Given the description of an element on the screen output the (x, y) to click on. 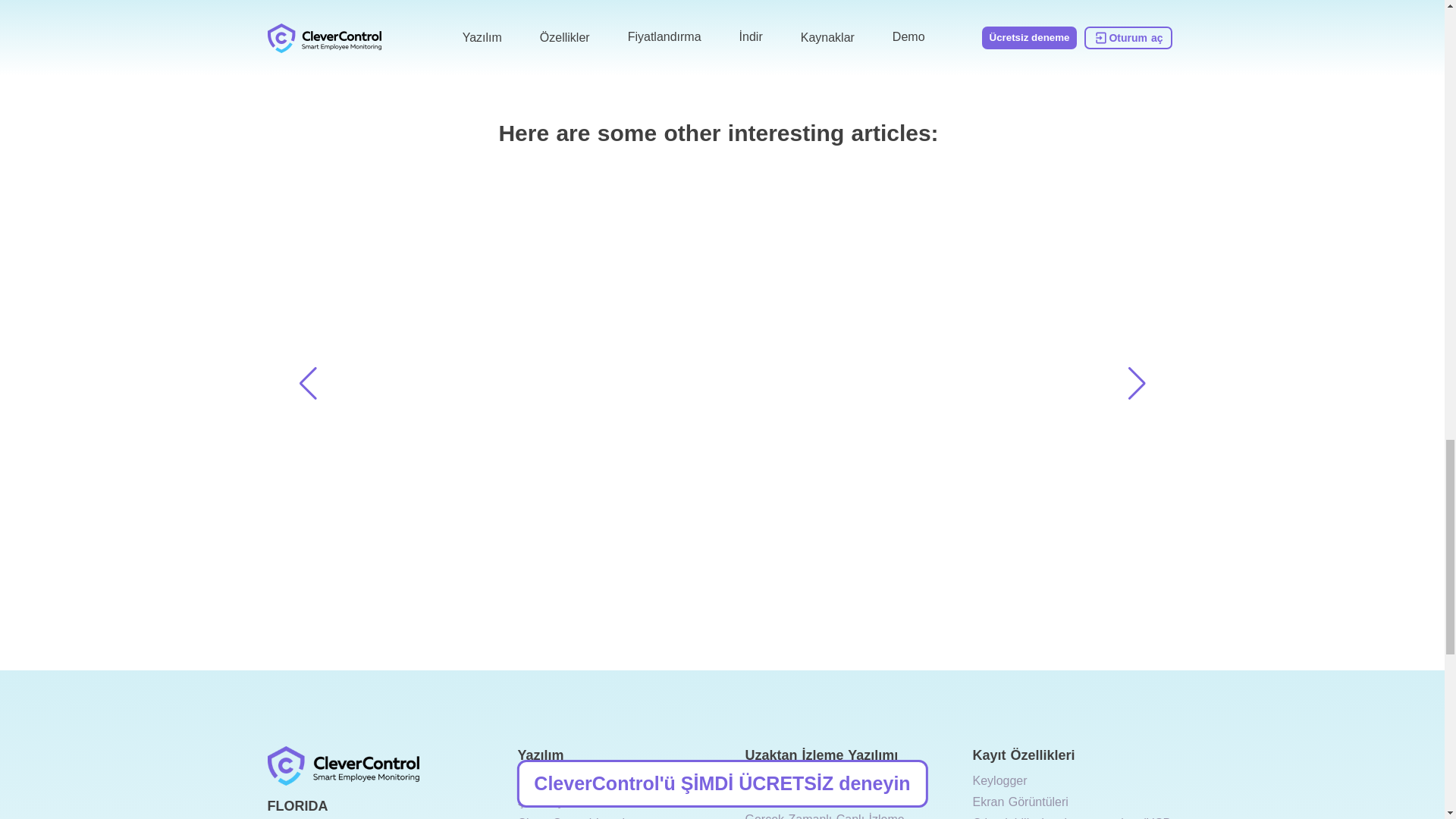
Keylogger (999, 780)
CleverControl Local (570, 817)
